Given the description of an element on the screen output the (x, y) to click on. 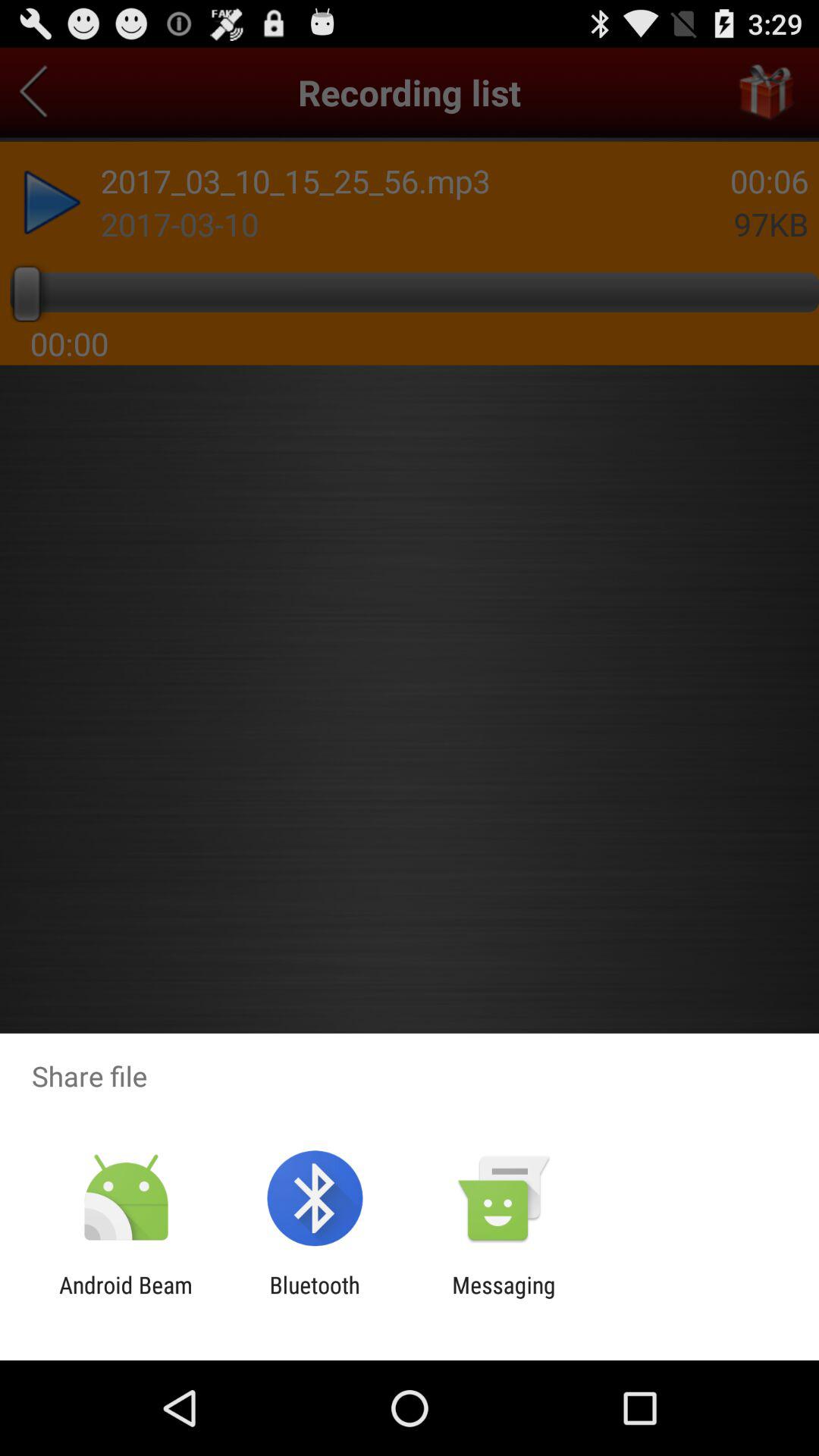
launch app next to messaging item (314, 1298)
